Given the description of an element on the screen output the (x, y) to click on. 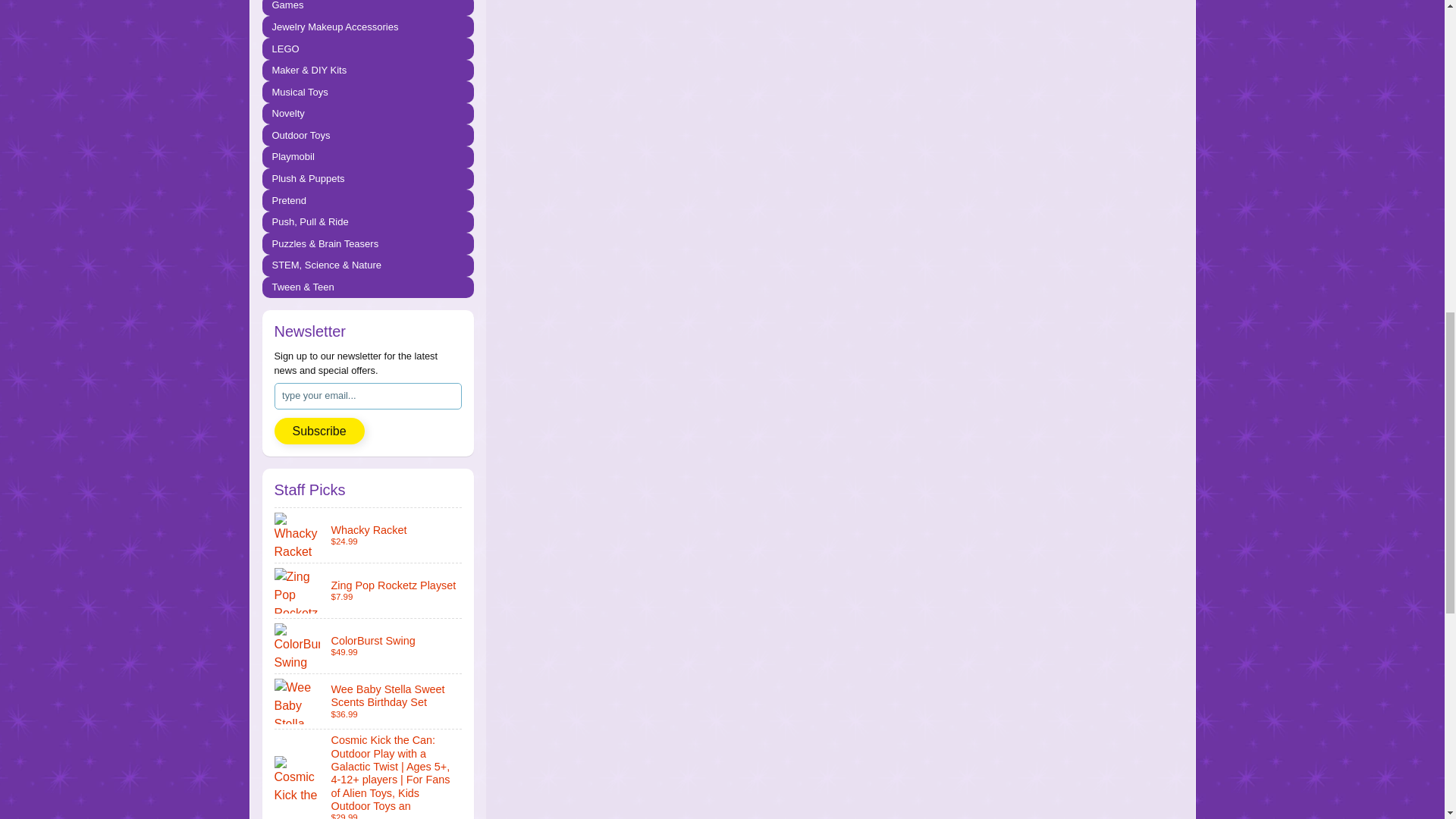
ColorBurst Swing (369, 646)
Zing Pop Rocketz Playset (369, 590)
Wee Baby Stella Sweet Scents Birthday Set (369, 701)
Whacky Racket (369, 534)
